Given the description of an element on the screen output the (x, y) to click on. 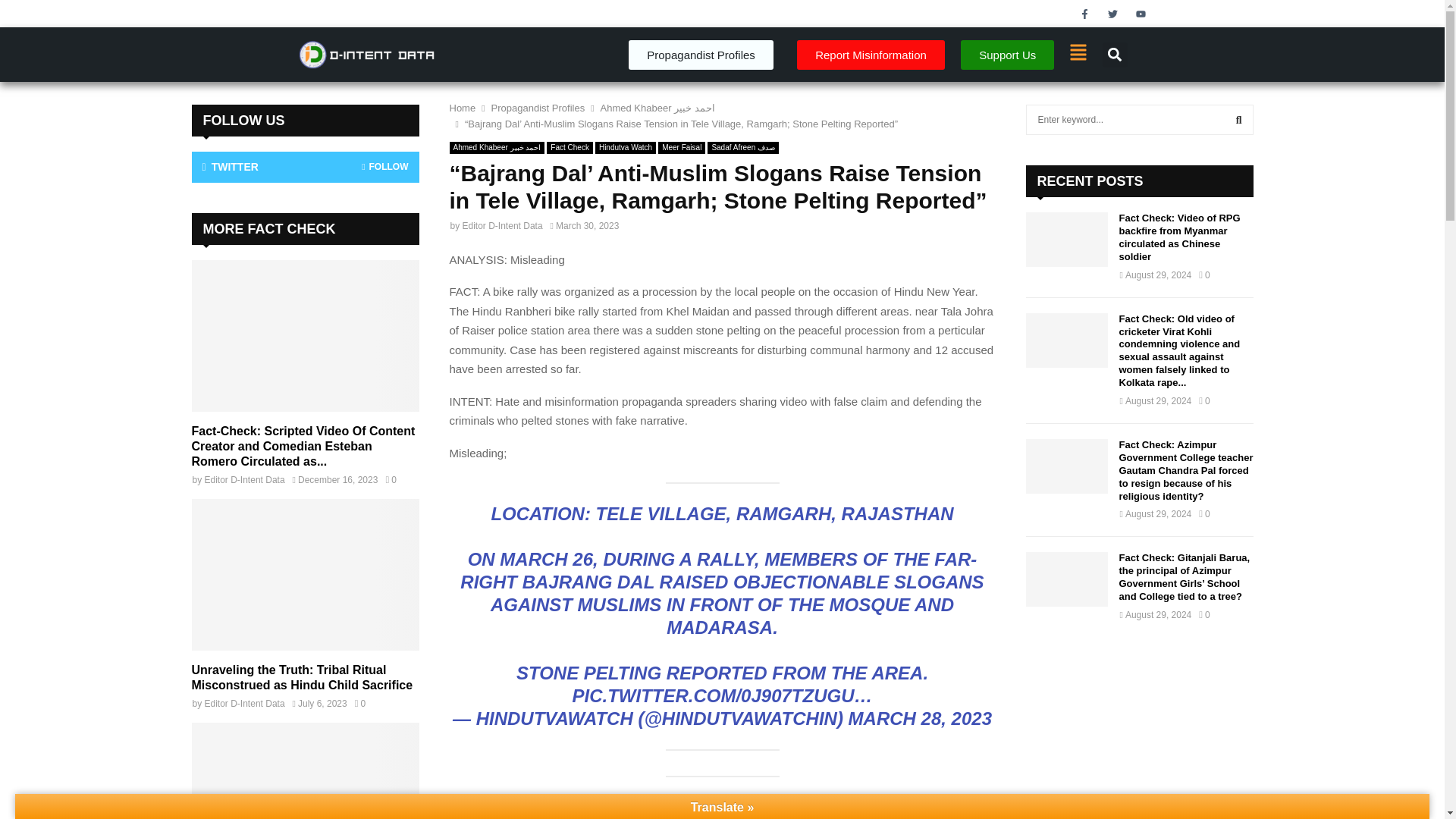
Meer Faisal (681, 147)
Propagandist Profiles (700, 54)
Support Us (1007, 54)
Hindutva Watch (625, 147)
Propagandist Profiles (538, 107)
MARCH 28, 2023 (919, 718)
